Given the description of an element on the screen output the (x, y) to click on. 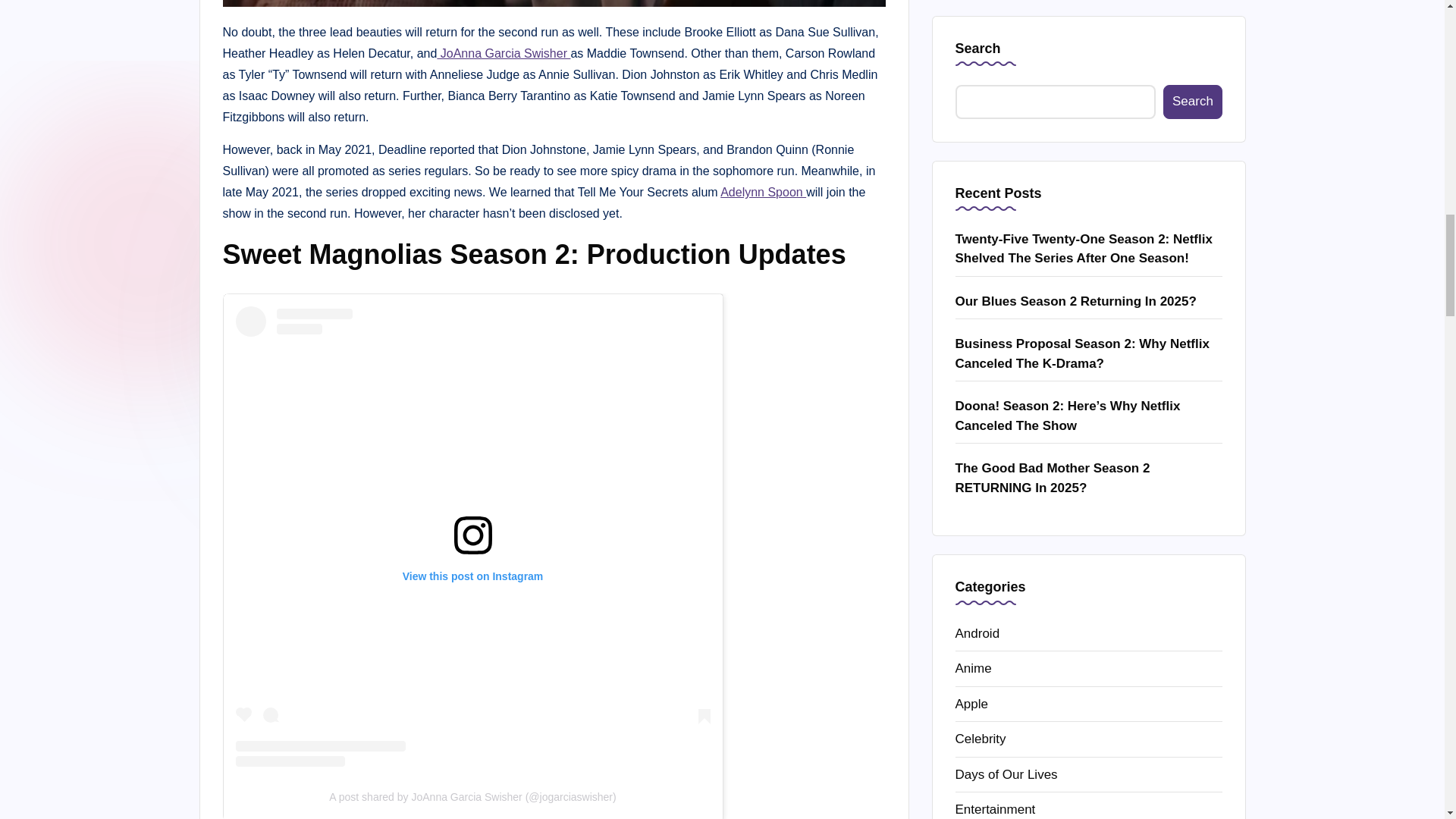
JoAnna Garcia Swisher (503, 52)
Adelynn Spoon (763, 192)
